Given the description of an element on the screen output the (x, y) to click on. 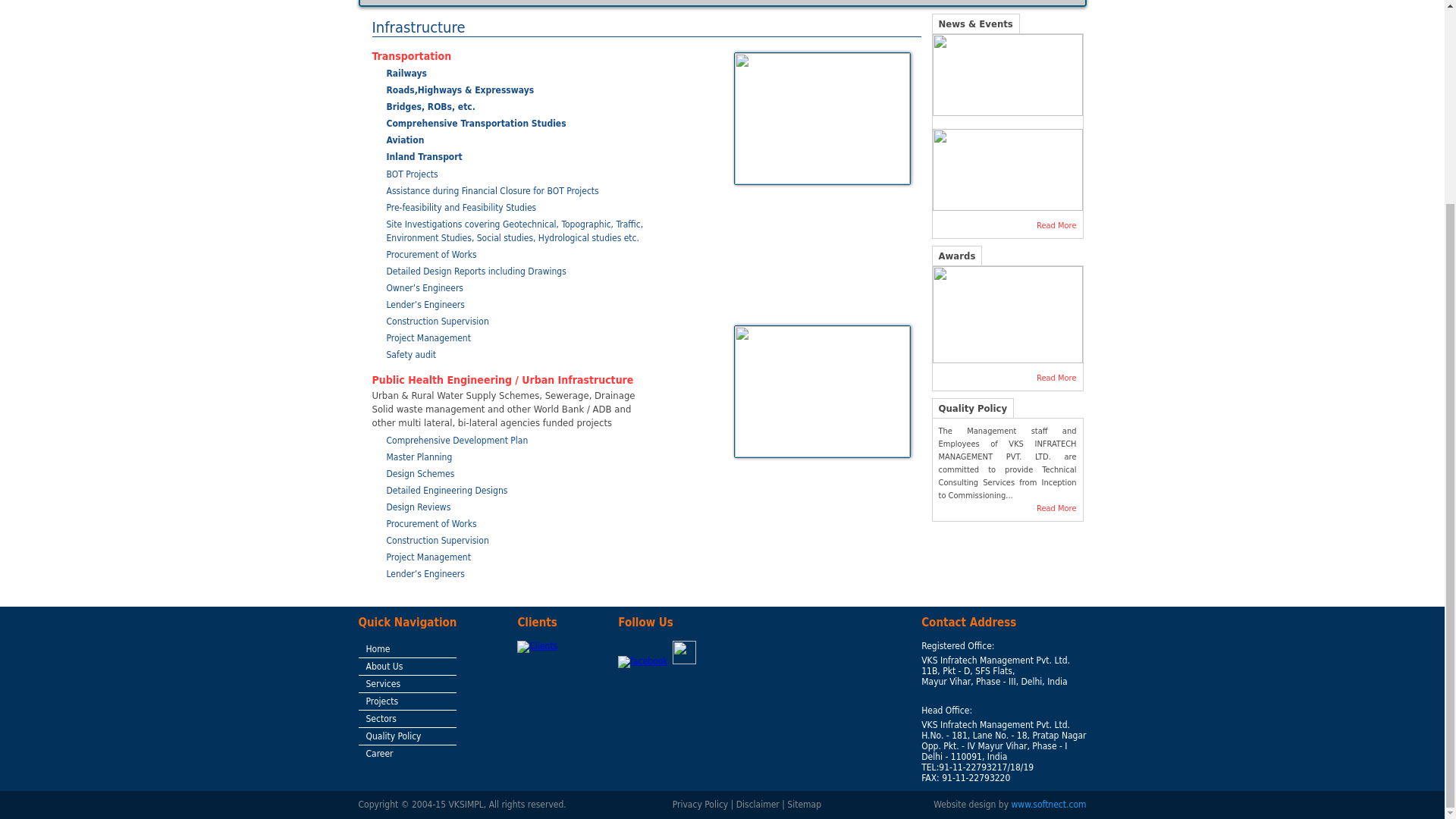
Home (377, 648)
About Us (384, 665)
Read More (1008, 225)
Read More (1008, 377)
Read More (1008, 508)
